Given the description of an element on the screen output the (x, y) to click on. 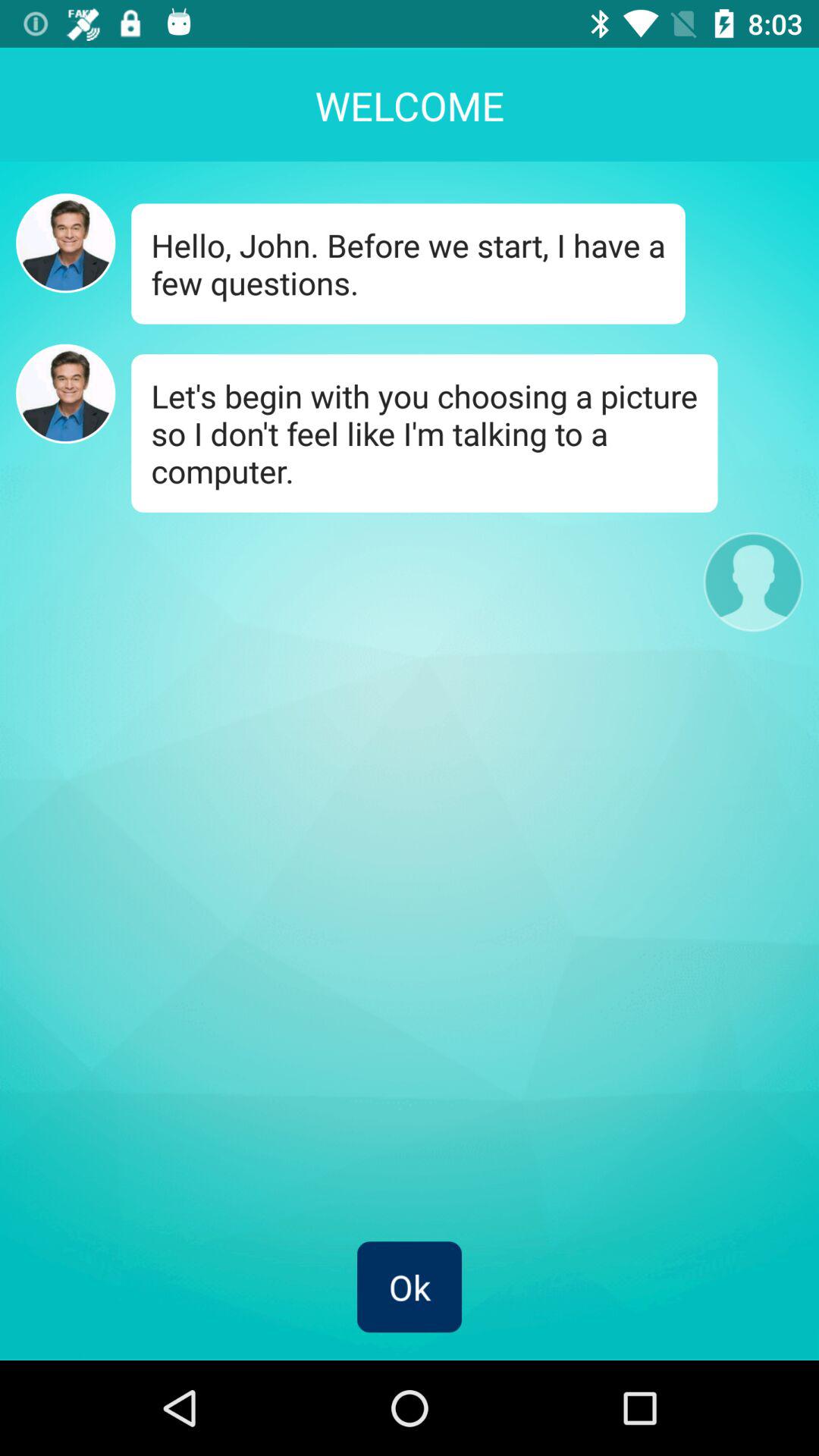
tap the ok (409, 1286)
